Given the description of an element on the screen output the (x, y) to click on. 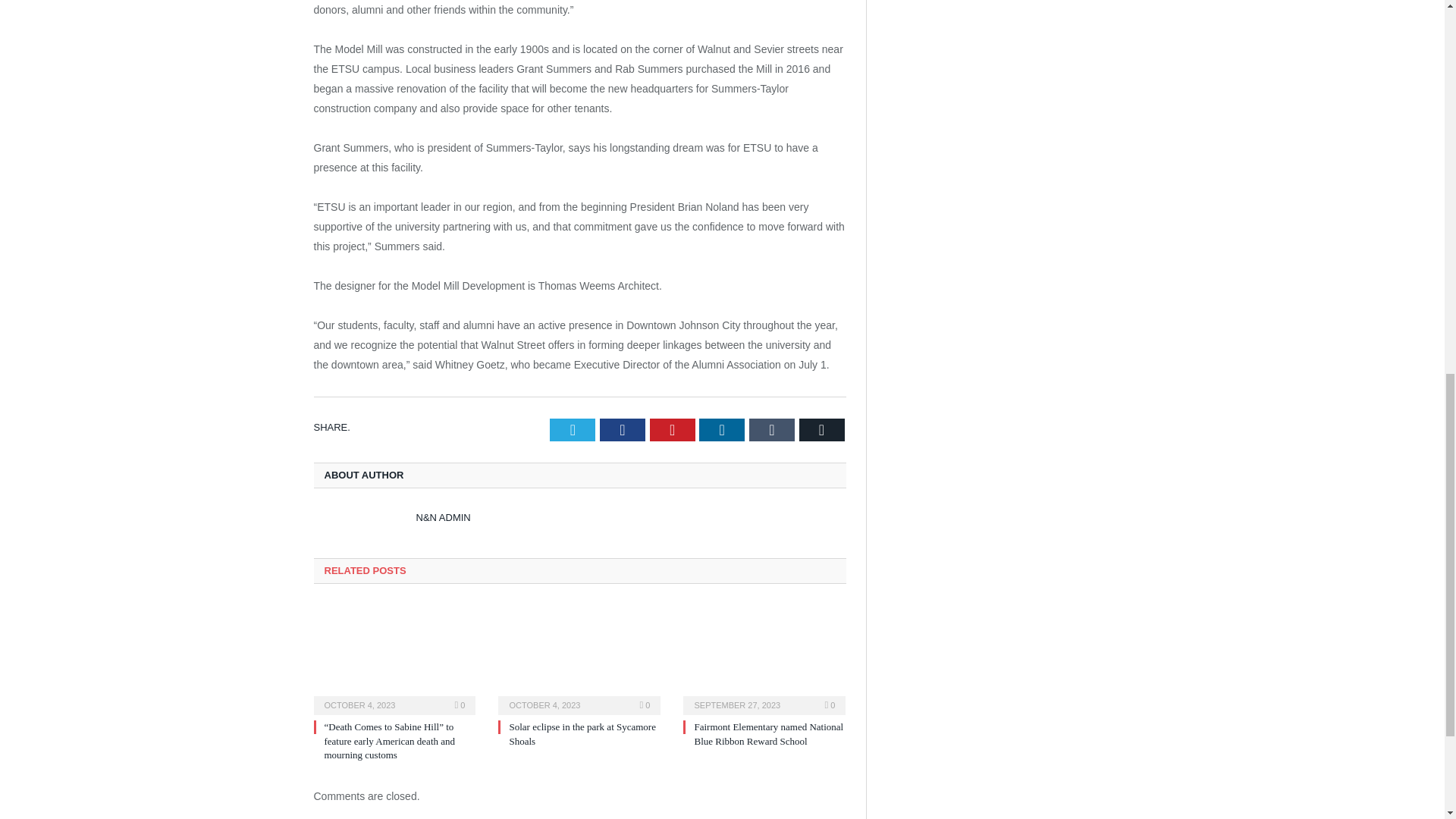
Share on Tumblr (771, 429)
Share on Facebook (622, 429)
Tweet It (572, 429)
Solar eclipse in the park at Sycamore Shoals (582, 733)
LinkedIn (721, 429)
Share on Pinterest (672, 429)
Tumblr (771, 429)
Pinterest (672, 429)
Solar eclipse in the park at Sycamore Shoals (579, 658)
